Given the description of an element on the screen output the (x, y) to click on. 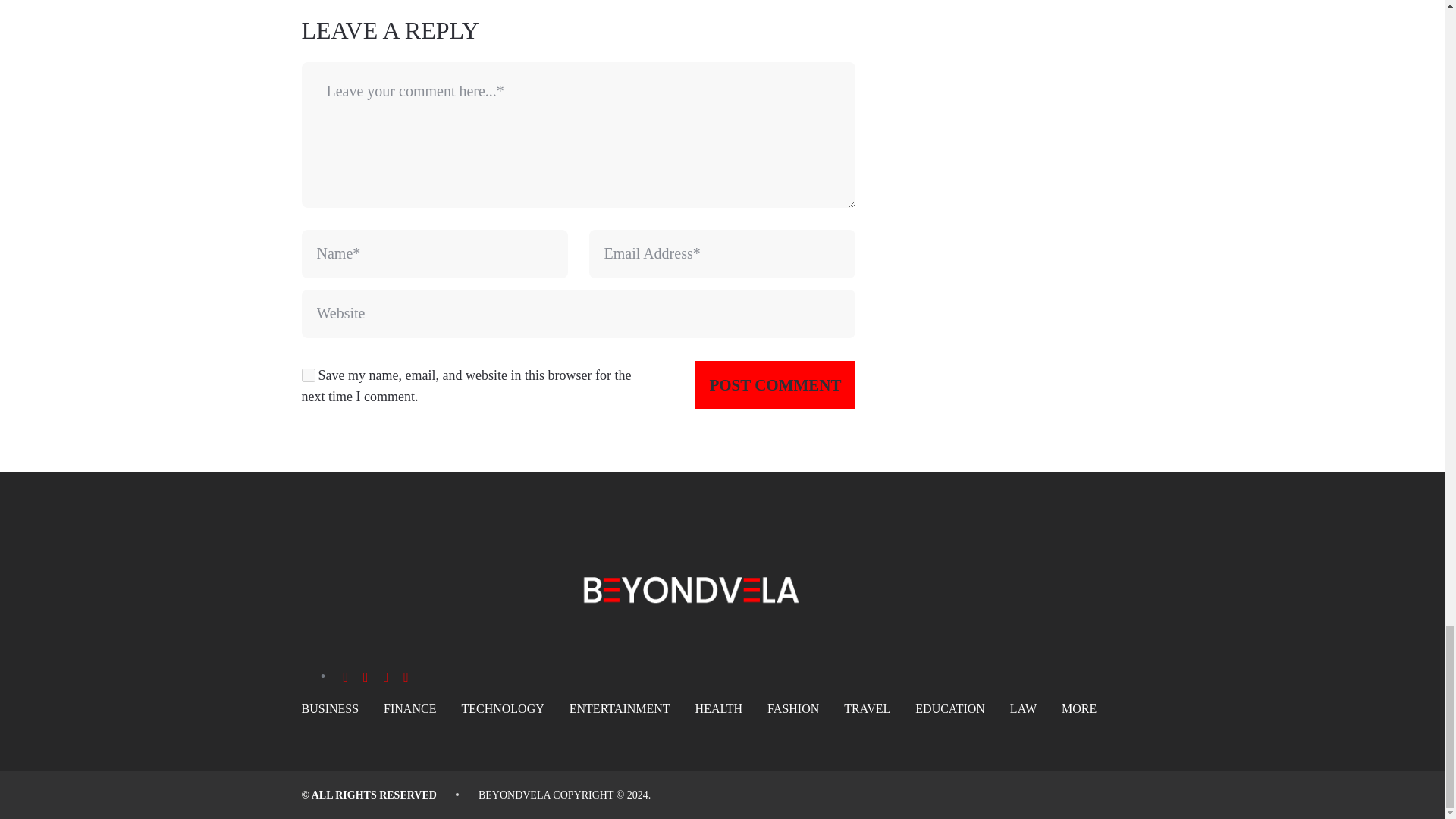
yes (308, 375)
Post Comment (774, 385)
 Top Magazine 2020 (514, 794)
Post Comment (774, 385)
BUSINESS (330, 707)
